Given the description of an element on the screen output the (x, y) to click on. 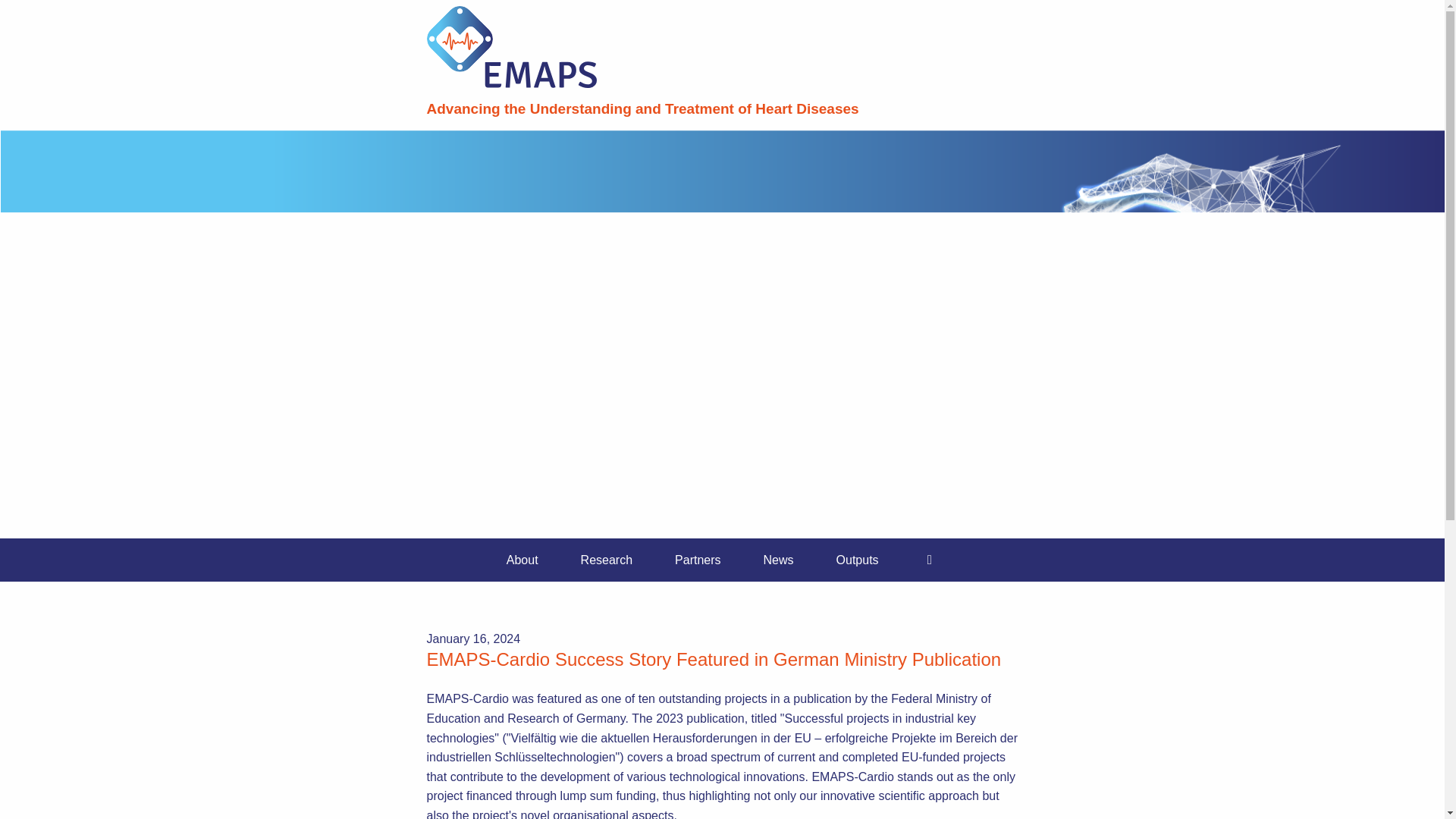
Research (606, 559)
Outputs (857, 559)
About (521, 559)
News (778, 559)
Partners (697, 559)
